Given the description of an element on the screen output the (x, y) to click on. 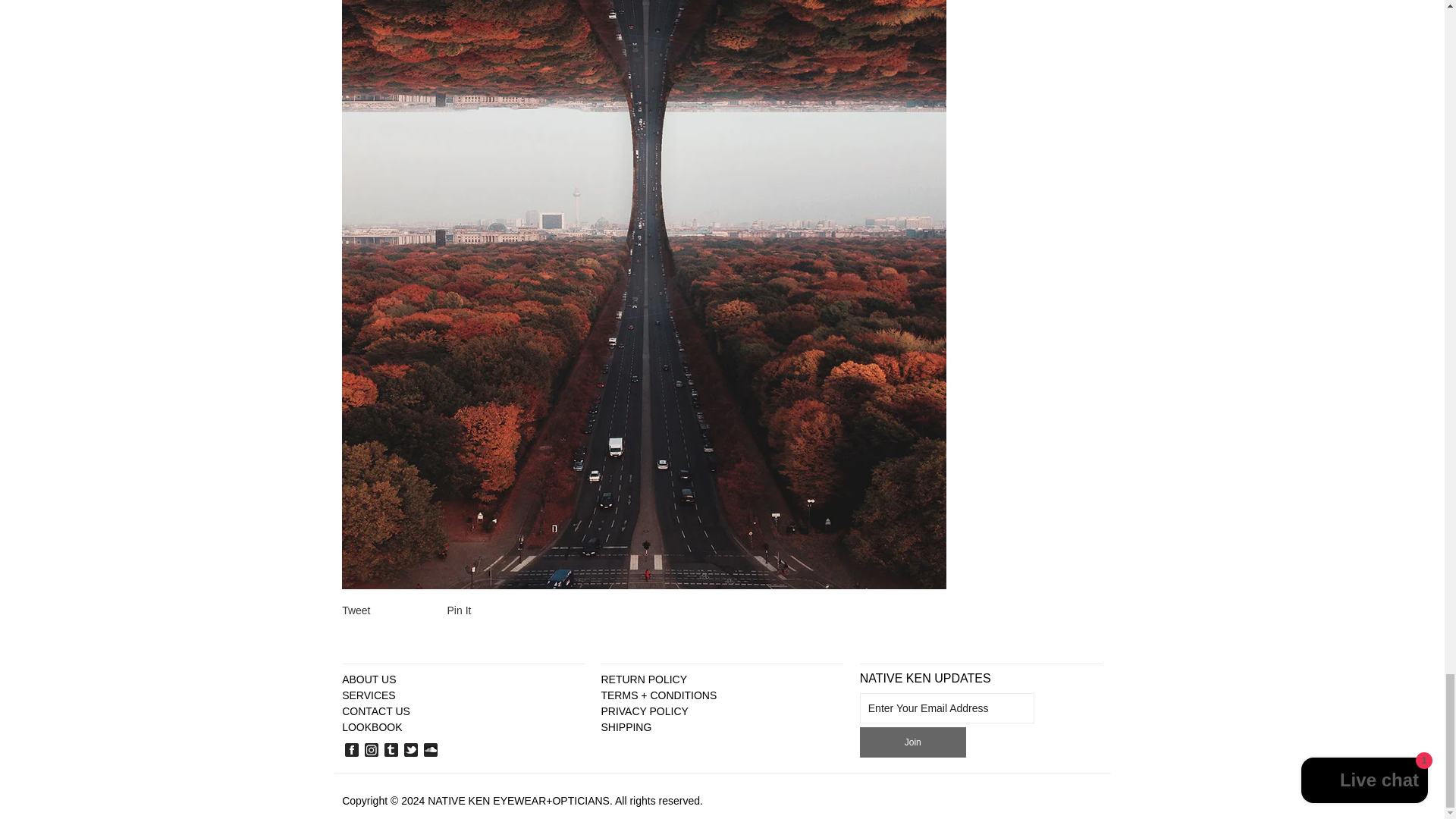
LOOKBOOK (371, 727)
Join (913, 742)
Join (913, 742)
Tweet (355, 610)
Pin It (458, 610)
ABOUT US (369, 679)
CONTACT US (376, 711)
SERVICES (369, 695)
SHIPPING (624, 727)
RETURN POLICY (643, 679)
PRIVACY POLICY (643, 711)
